Given the description of an element on the screen output the (x, y) to click on. 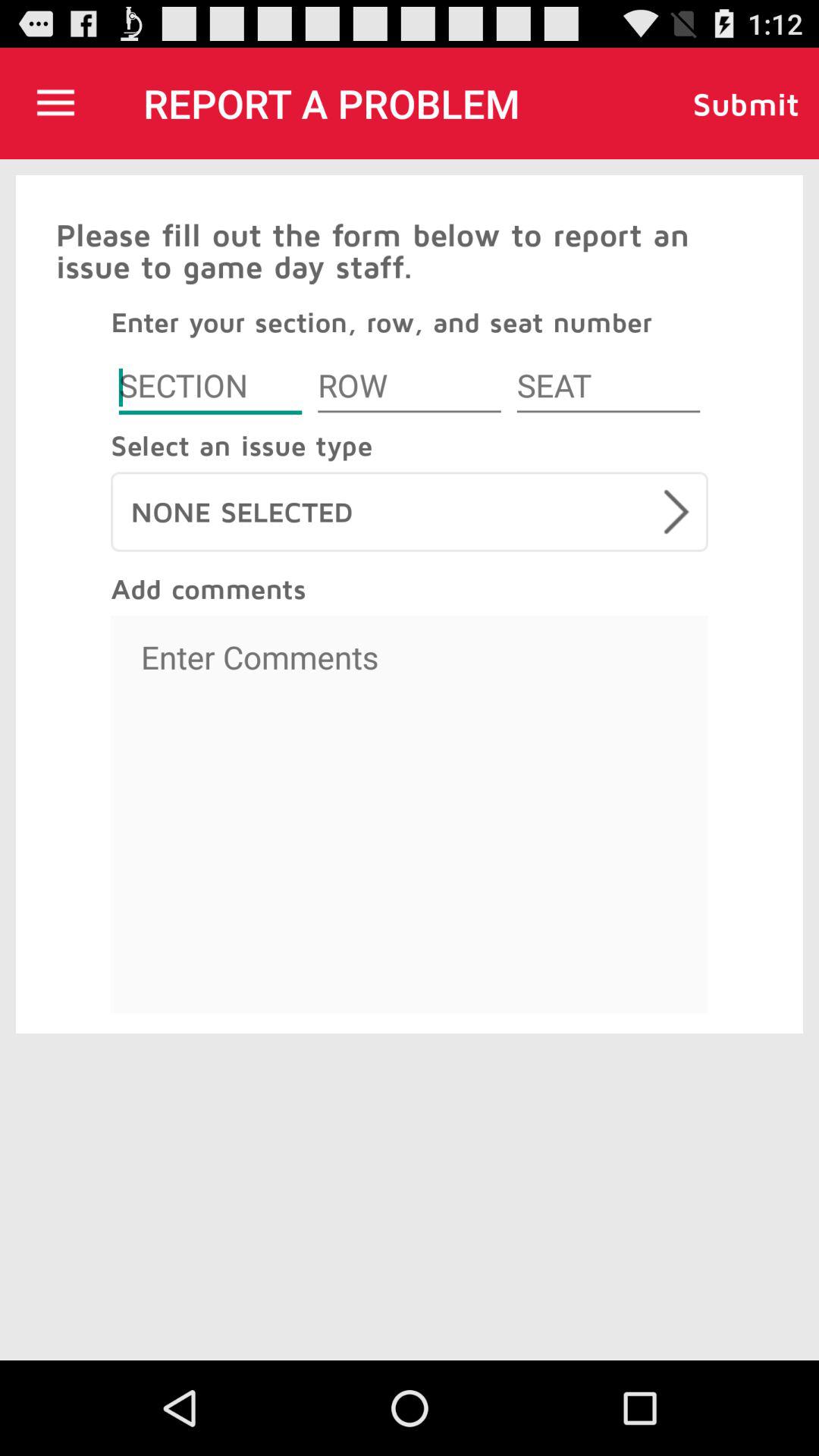
select row (409, 388)
